Given the description of an element on the screen output the (x, y) to click on. 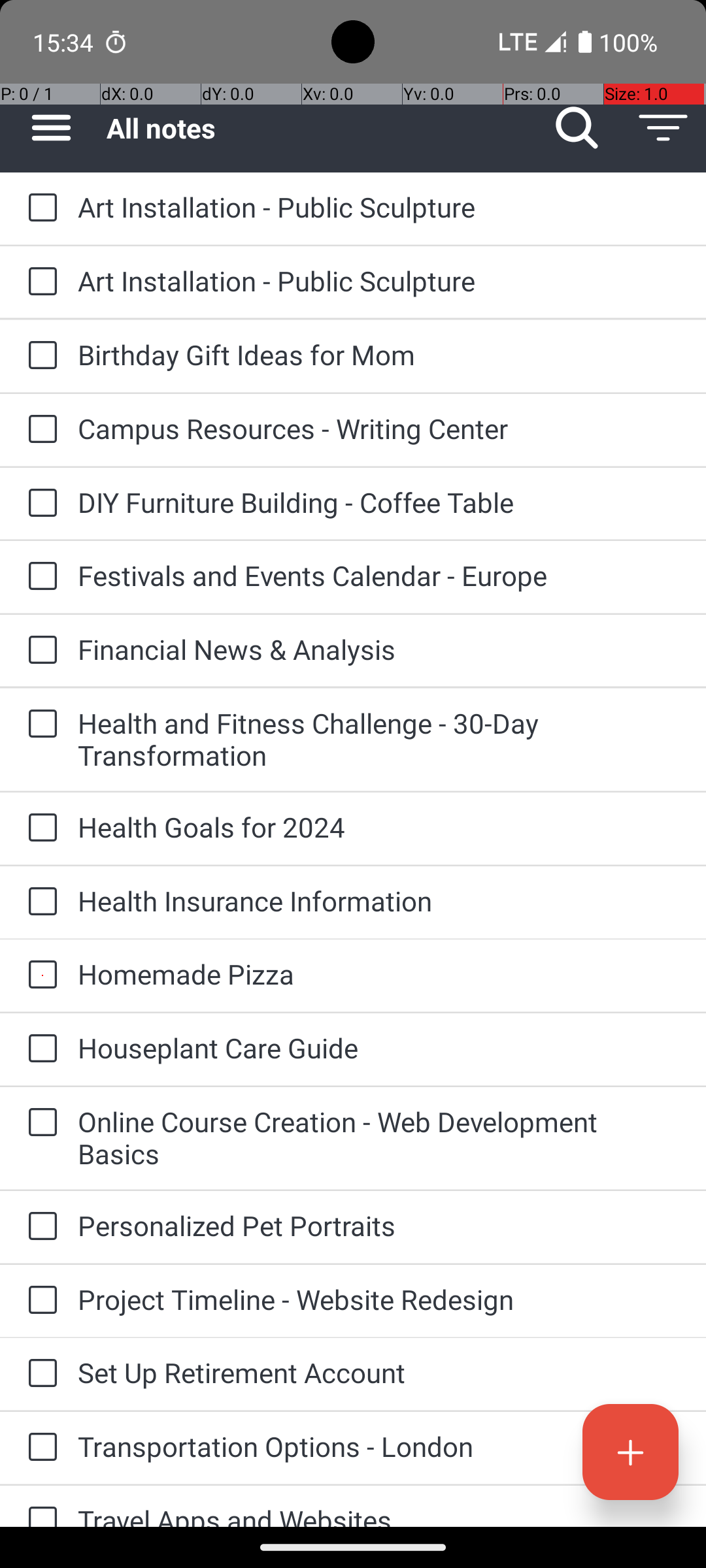
to-do: Art Installation - Public Sculpture Element type: android.widget.CheckBox (38, 208)
Art Installation - Public Sculpture Element type: android.widget.TextView (378, 206)
to-do: Birthday Gift Ideas for Mom Element type: android.widget.CheckBox (38, 356)
Birthday Gift Ideas for Mom Element type: android.widget.TextView (378, 354)
to-do: Campus Resources - Writing Center Element type: android.widget.CheckBox (38, 429)
Campus Resources - Writing Center Element type: android.widget.TextView (378, 427)
to-do: DIY Furniture Building - Coffee Table Element type: android.widget.CheckBox (38, 503)
DIY Furniture Building - Coffee Table Element type: android.widget.TextView (378, 501)
to-do: Festivals and Events Calendar - Europe Element type: android.widget.CheckBox (38, 576)
Festivals and Events Calendar - Europe Element type: android.widget.TextView (378, 574)
to-do: Financial News & Analysis Element type: android.widget.CheckBox (38, 650)
Financial News & Analysis Element type: android.widget.TextView (378, 648)
to-do: Health and Fitness Challenge - 30-Day Transformation Element type: android.widget.CheckBox (38, 724)
Health and Fitness Challenge - 30-Day Transformation Element type: android.widget.TextView (378, 738)
to-do: Health Goals for 2024 Element type: android.widget.CheckBox (38, 828)
Health Goals for 2024 Element type: android.widget.TextView (378, 826)
to-do: Health Insurance Information Element type: android.widget.CheckBox (38, 902)
Health Insurance Information Element type: android.widget.TextView (378, 900)
to-do: Homemade Pizza Element type: android.widget.CheckBox (38, 975)
Homemade Pizza Element type: android.widget.TextView (378, 973)
to-do: Houseplant Care Guide Element type: android.widget.CheckBox (38, 1049)
Houseplant Care Guide Element type: android.widget.TextView (378, 1047)
to-do: Online Course Creation - Web Development Basics Element type: android.widget.CheckBox (38, 1123)
Online Course Creation - Web Development Basics Element type: android.widget.TextView (378, 1137)
to-do: Personalized Pet Portraits Element type: android.widget.CheckBox (38, 1226)
Personalized Pet Portraits Element type: android.widget.TextView (378, 1224)
to-do: Project Timeline - Website Redesign Element type: android.widget.CheckBox (38, 1300)
Project Timeline - Website Redesign Element type: android.widget.TextView (378, 1298)
to-do: Set Up Retirement Account Element type: android.widget.CheckBox (38, 1373)
Set Up Retirement Account Element type: android.widget.TextView (378, 1371)
to-do: Transportation Options - London Element type: android.widget.CheckBox (38, 1447)
Transportation Options - London Element type: android.widget.TextView (378, 1445)
to-do: Travel Apps and Websites Element type: android.widget.CheckBox (38, 1505)
Travel Apps and Websites Element type: android.widget.TextView (378, 1513)
